Given the description of an element on the screen output the (x, y) to click on. 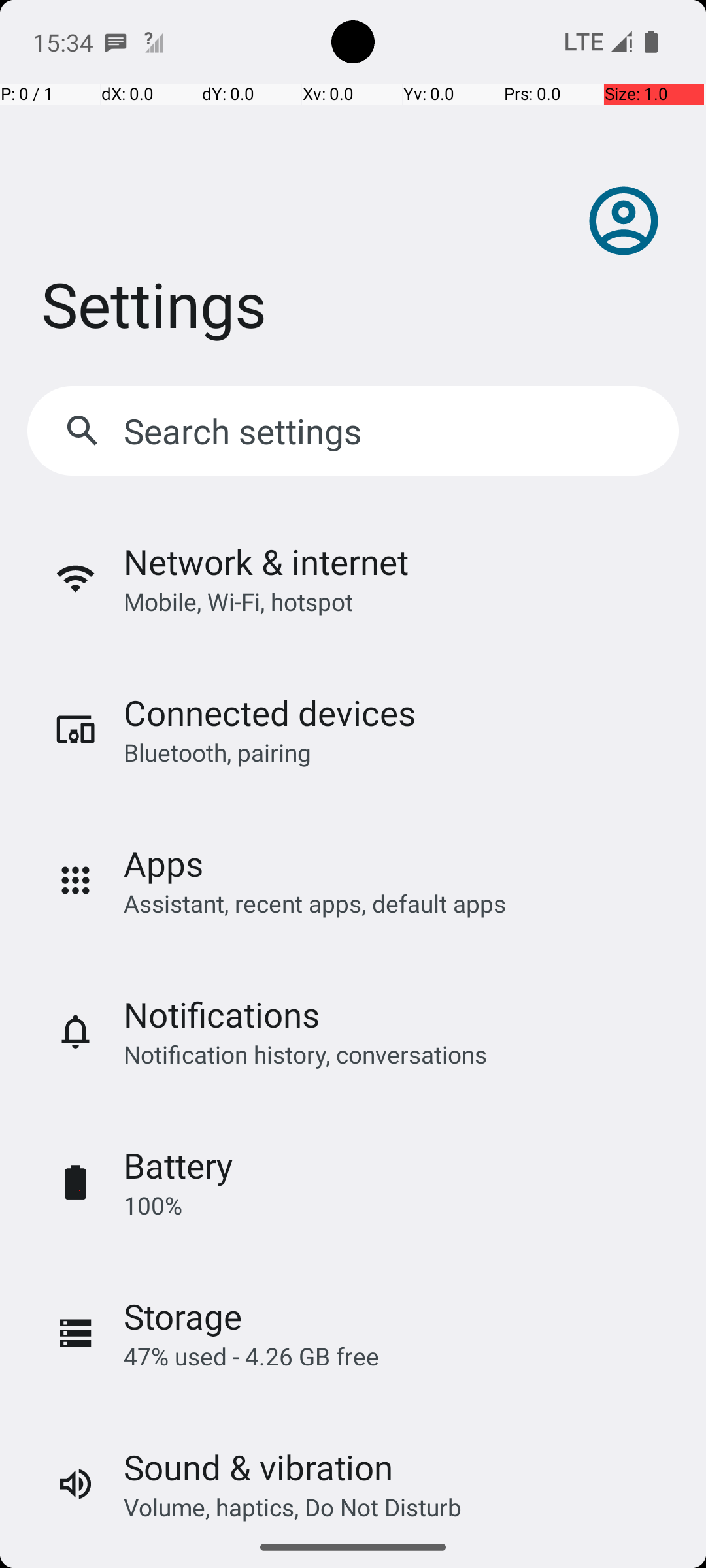
47% used - 4.26 GB free Element type: android.widget.TextView (251, 1355)
